Given the description of an element on the screen output the (x, y) to click on. 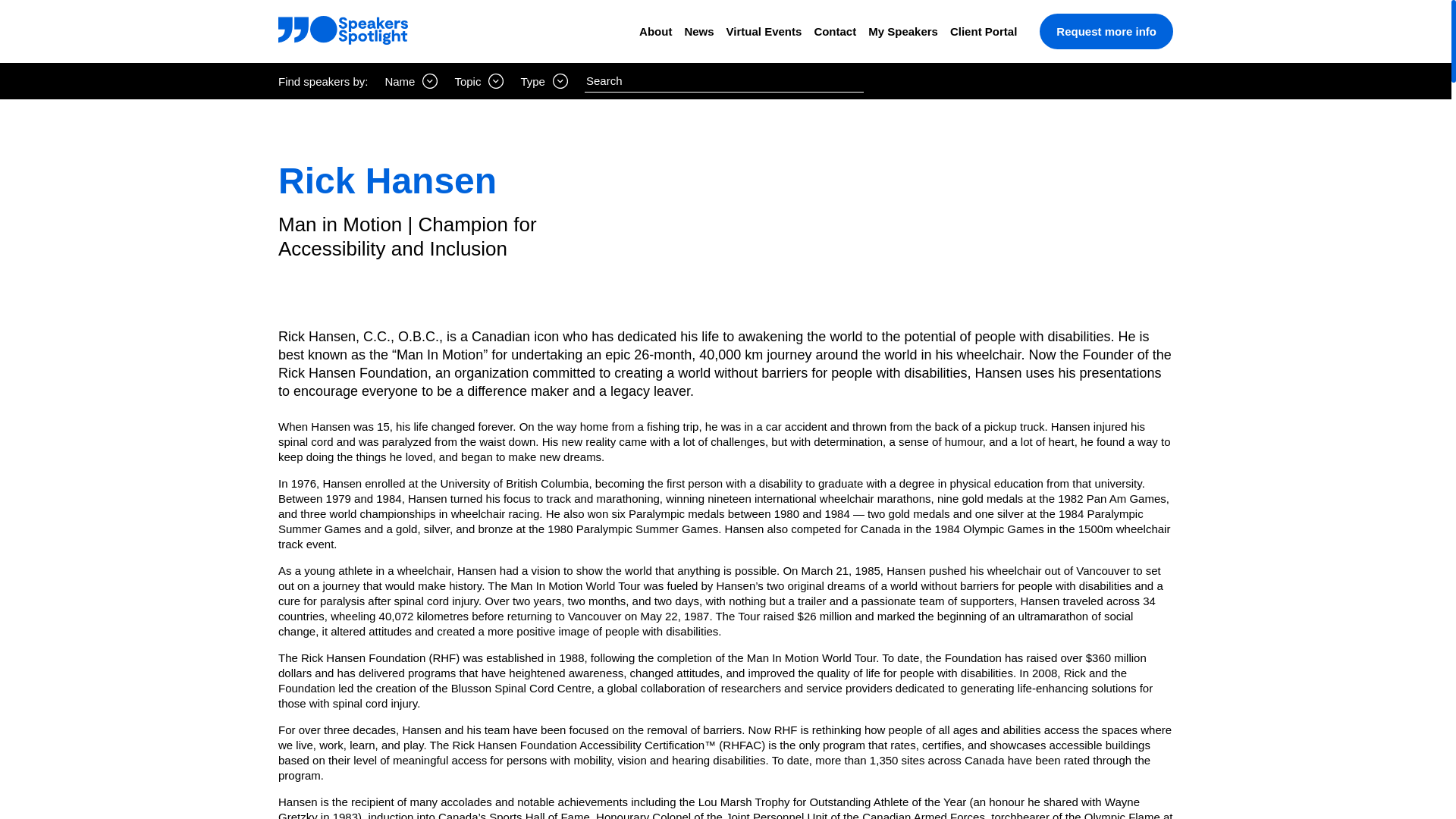
Client Portal (983, 31)
My Speakers (902, 31)
Request more info (1106, 31)
About (655, 31)
Name (411, 80)
Contact (834, 31)
Virtual Events (764, 31)
